Given the description of an element on the screen output the (x, y) to click on. 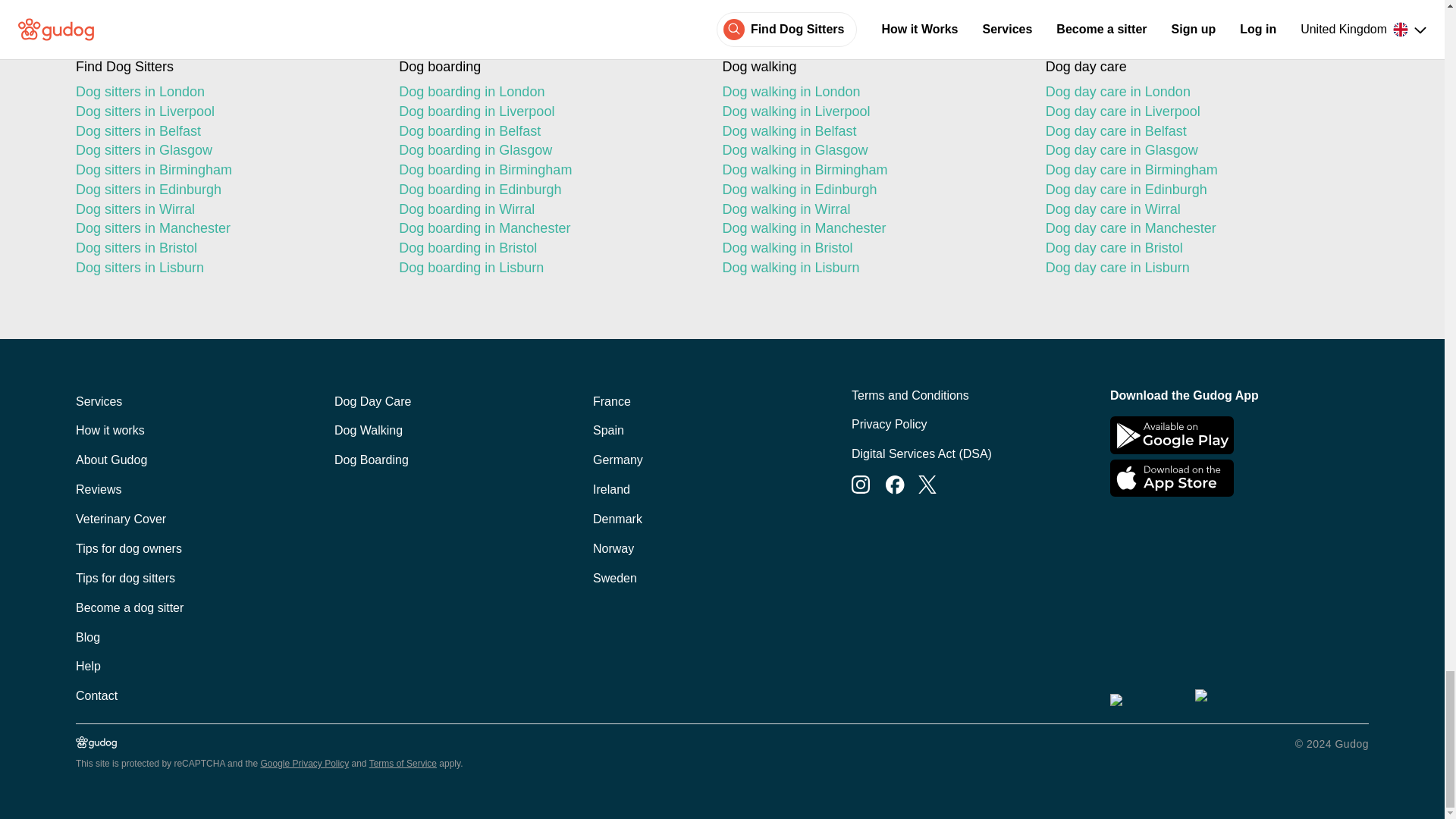
Dog sitters in Bristol (224, 248)
Dog sitters in Wirral (224, 209)
Dog sitters in Birmingham (224, 170)
Dog boarding in Liverpool (547, 112)
Dog sitters in Edinburgh (224, 189)
Dog sitters in Lisburn (224, 268)
Dog sitters in Belfast (224, 131)
Dog sitters in Edinburgh (224, 189)
Dog sitters in Manchester (224, 229)
Dog sitters in Bristol (224, 248)
